Given the description of an element on the screen output the (x, y) to click on. 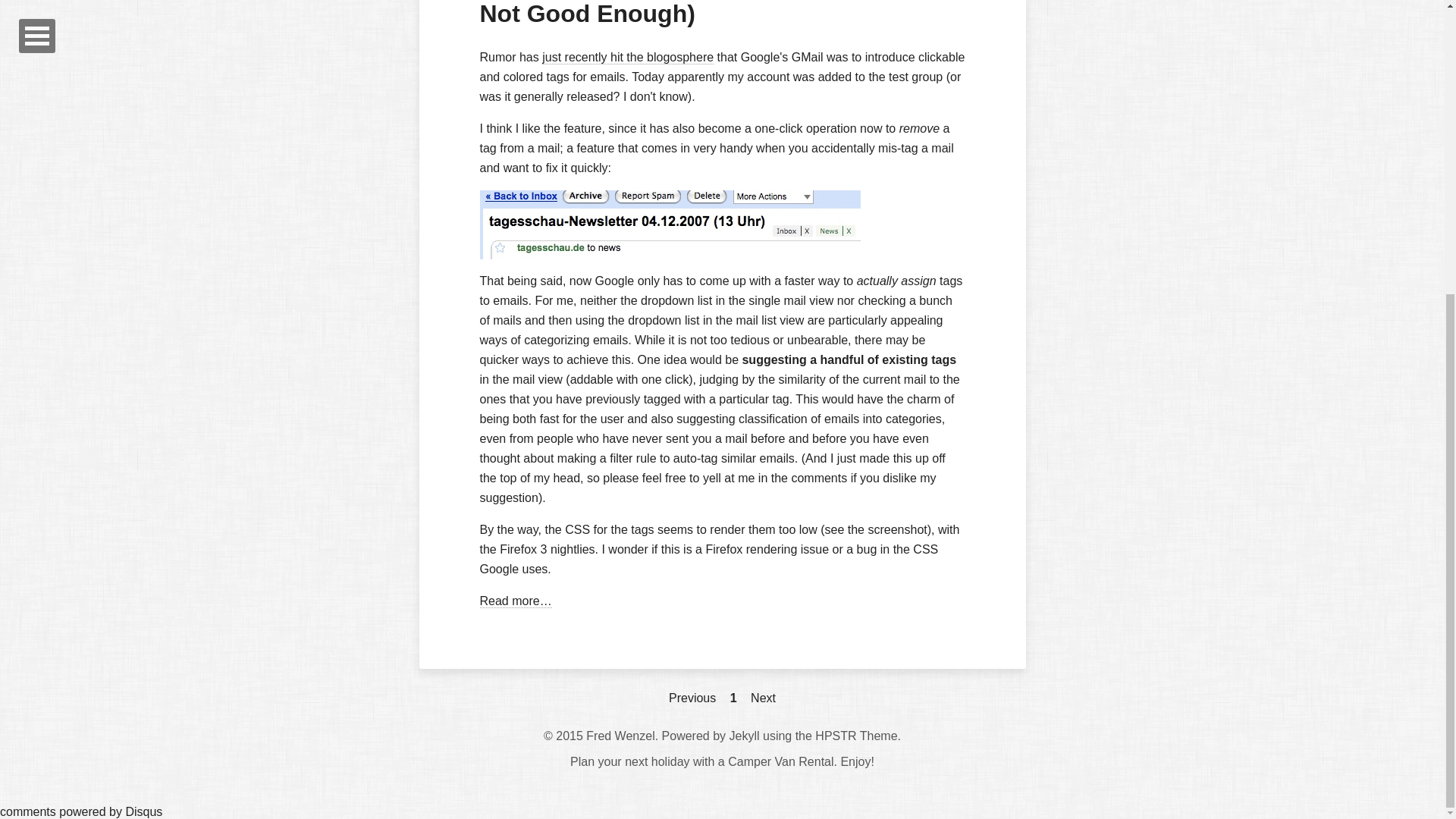
HPSTR Theme (855, 735)
comments powered by Disqus (80, 811)
Jekyll (744, 735)
Camper Van Rental (780, 761)
just recently hit the blogosphere (627, 57)
